Given the description of an element on the screen output the (x, y) to click on. 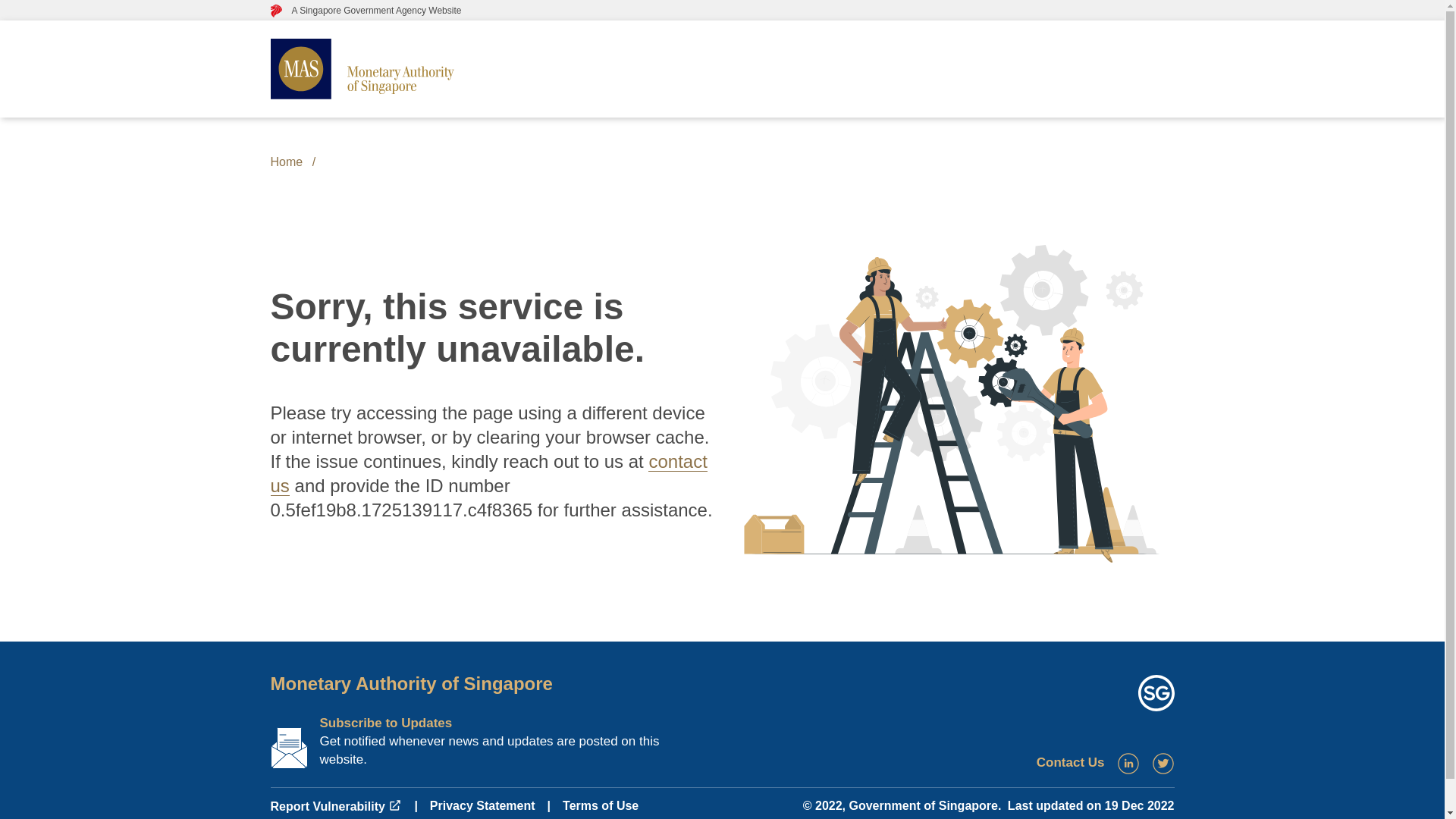
Privacy Statement (482, 805)
Contact Us (1070, 762)
Terms of Use (600, 805)
Monetary Authority of Singapore (410, 683)
Home (285, 161)
A Singapore Government Agency Website (365, 10)
contact us (487, 473)
Report Vulnerability (335, 806)
